Given the description of an element on the screen output the (x, y) to click on. 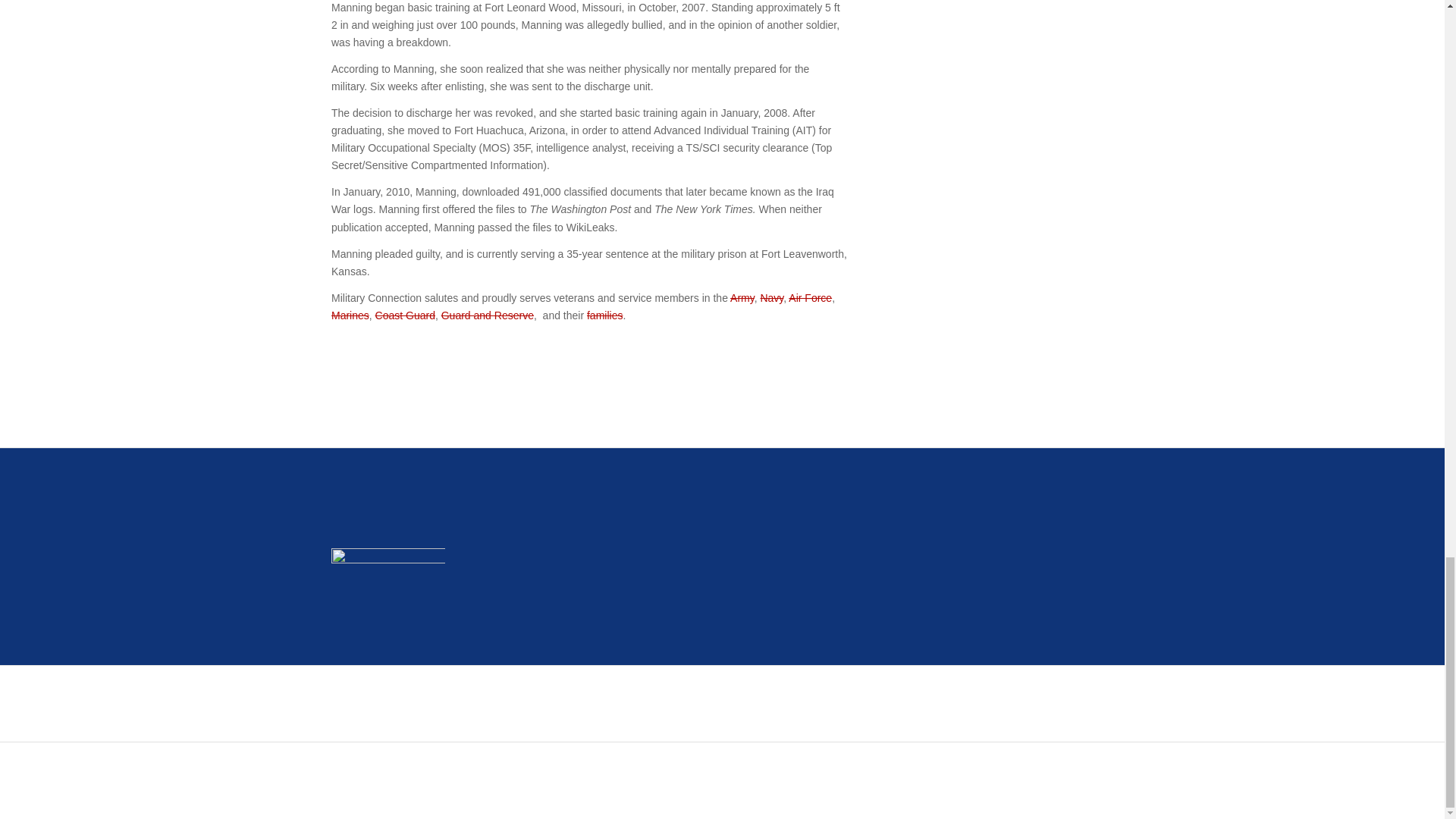
Air Force (810, 297)
Marines (350, 315)
families (604, 315)
Army (742, 297)
Guard and Reserve (487, 315)
Coast Guard (405, 315)
Navy (771, 297)
